Given the description of an element on the screen output the (x, y) to click on. 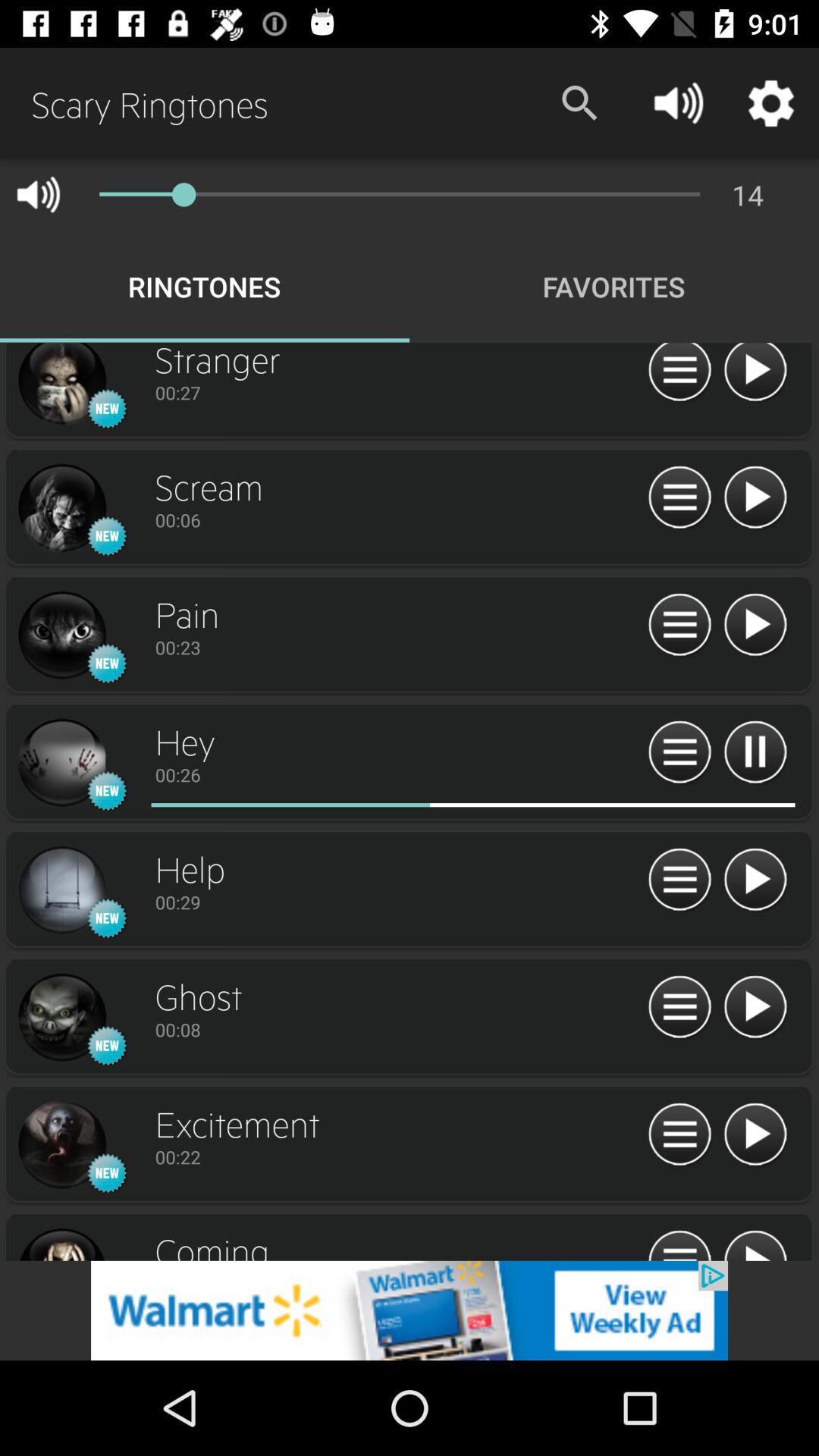
go to pause button (755, 752)
